Given the description of an element on the screen output the (x, y) to click on. 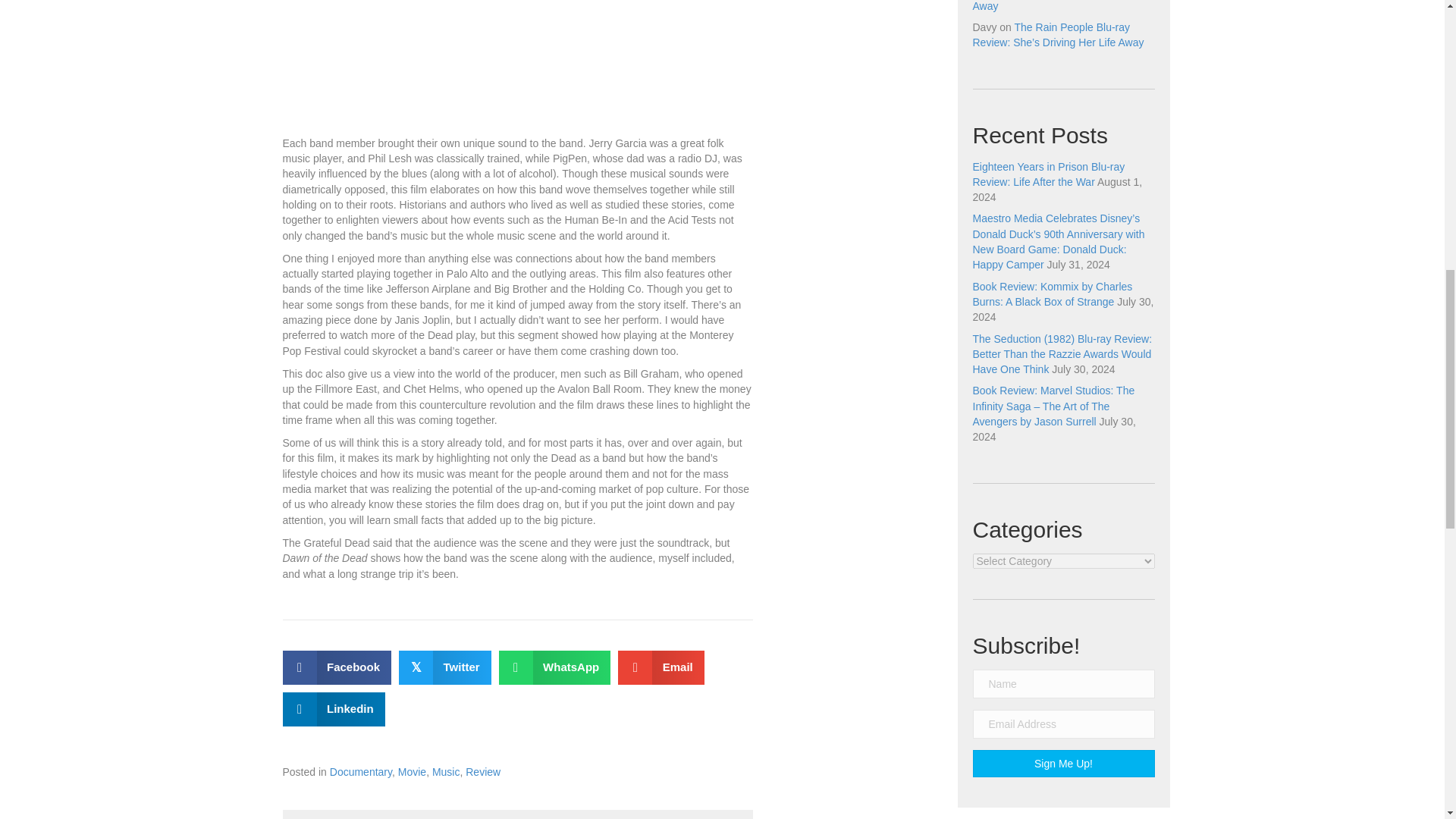
Facebook (336, 667)
Book Review: Kommix by Charles Burns: A Black Box of Strange (1052, 293)
Movie (411, 771)
Linkedin (333, 709)
Sign Me Up! (1063, 763)
Review (482, 771)
Music (446, 771)
Email (660, 667)
WhatsApp (555, 667)
Eighteen Years in Prison Blu-ray Review: Life After the War (1048, 174)
Documentary (360, 771)
